Given the description of an element on the screen output the (x, y) to click on. 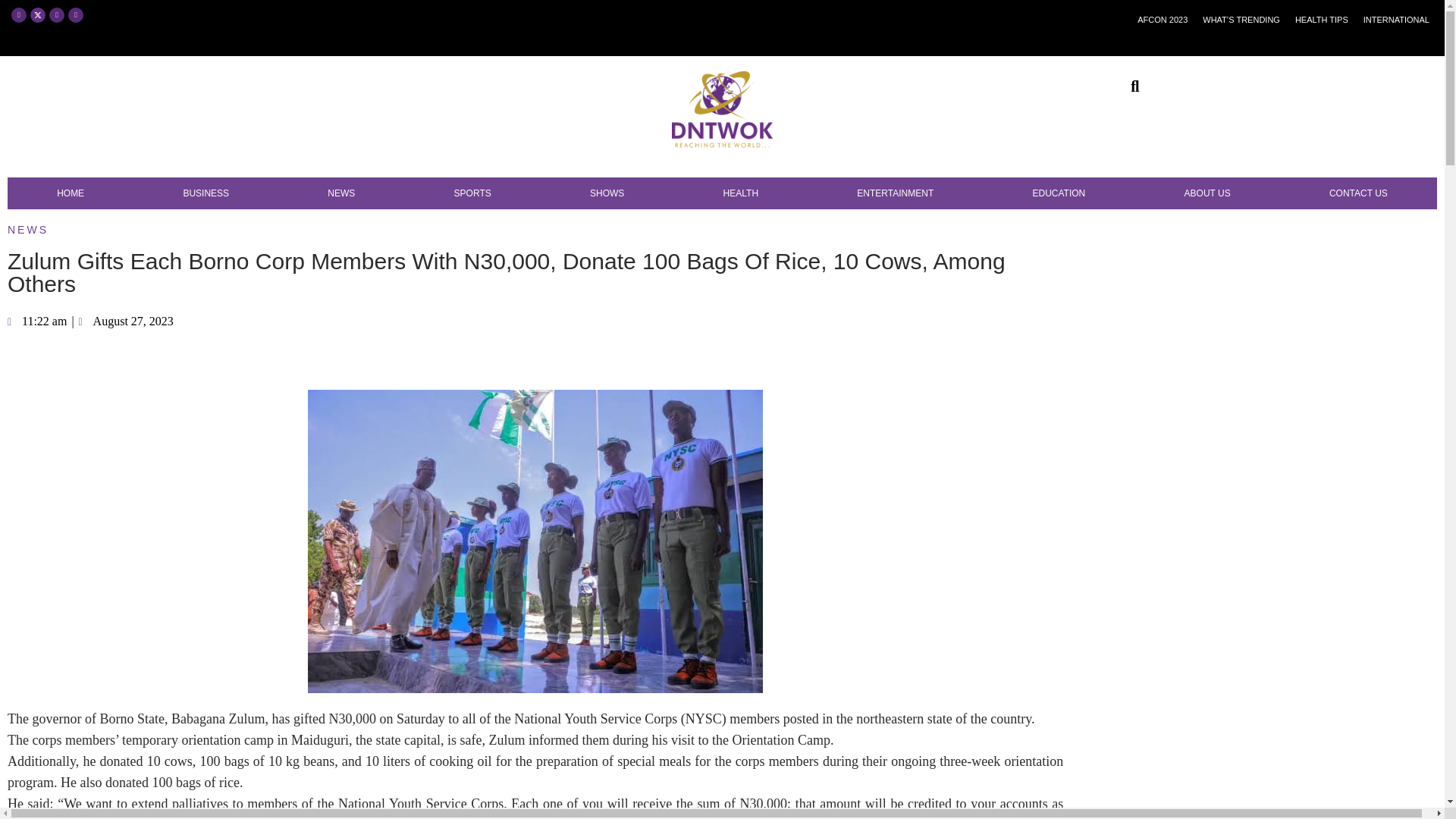
HEALTH TIPS (1321, 19)
HEALTH (740, 193)
EDUCATION (1058, 193)
HOME (70, 193)
AFCON 2023 (1162, 19)
CONTACT US (1358, 193)
SHOWS (607, 193)
ABOUT US (1206, 193)
Search (1127, 86)
ENTERTAINMENT (895, 193)
BUSINESS (205, 193)
SPORTS (472, 193)
NEWS (341, 193)
INTERNATIONAL (1396, 19)
